Given the description of an element on the screen output the (x, y) to click on. 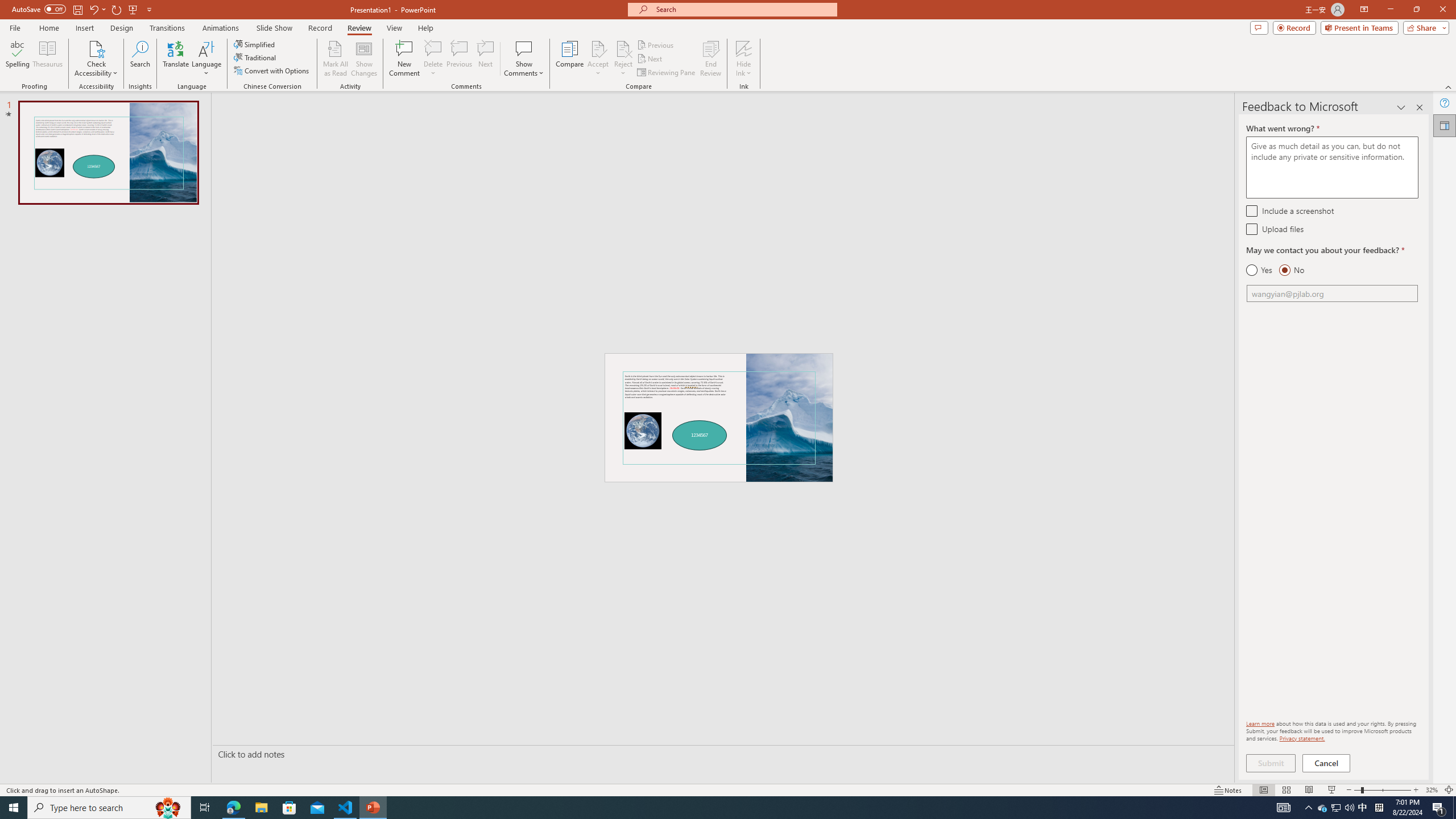
Previous (655, 44)
Convert with Options... (272, 69)
End Review (710, 58)
Hide Ink (743, 58)
Accept (598, 58)
Language (206, 58)
Show Comments (524, 58)
No (1291, 269)
